Given the description of an element on the screen output the (x, y) to click on. 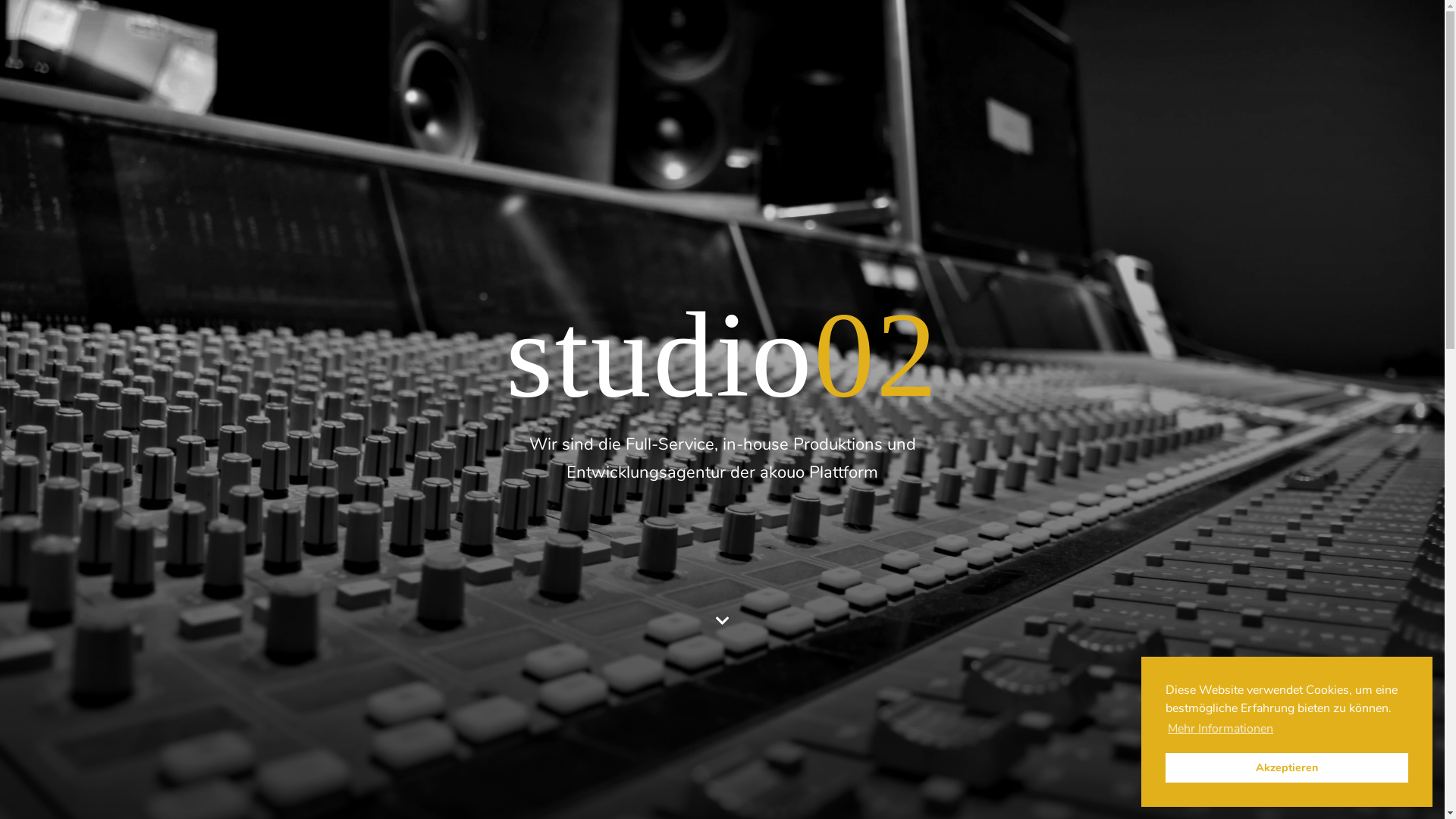
Mehr Informationen Element type: text (1220, 728)
Akzeptieren Element type: text (1286, 767)
